Given the description of an element on the screen output the (x, y) to click on. 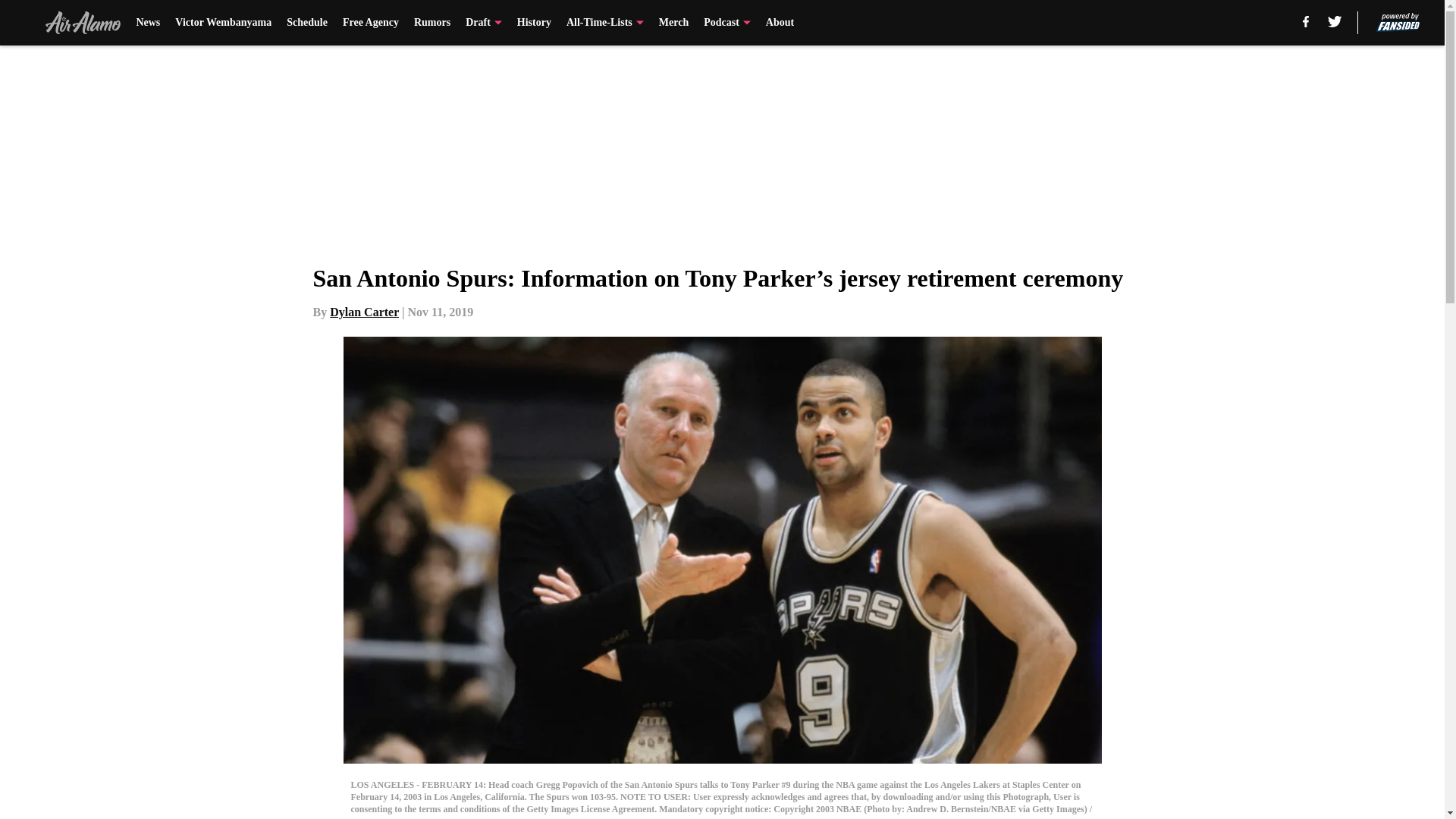
Schedule (306, 22)
News (147, 22)
Free Agency (370, 22)
Victor Wembanyama (222, 22)
About (779, 22)
Dylan Carter (364, 311)
Merch (673, 22)
History (533, 22)
Draft (483, 22)
Rumors (431, 22)
